Given the description of an element on the screen output the (x, y) to click on. 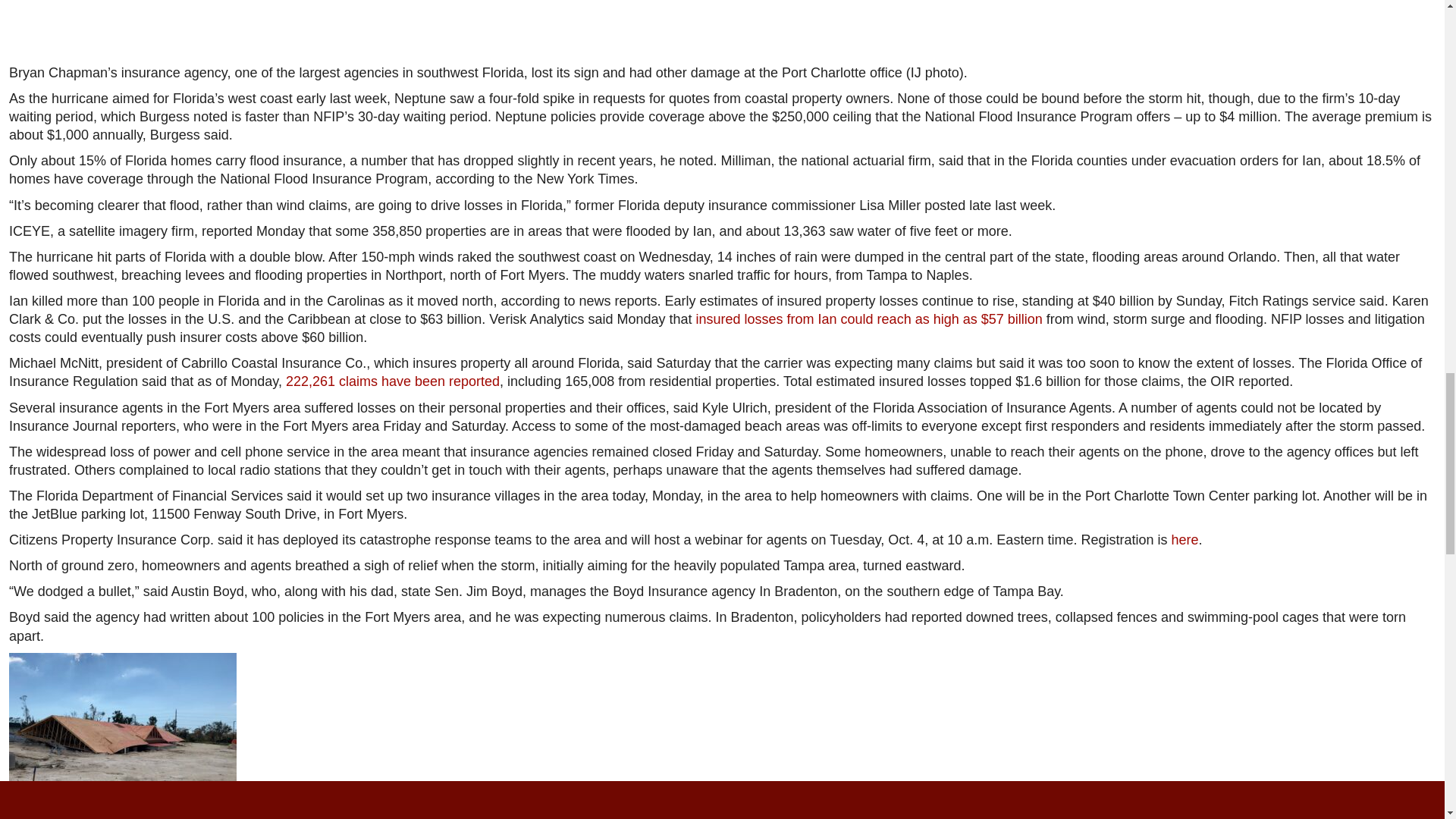
222,261 claims have been reported (392, 381)
here (1184, 539)
